Given the description of an element on the screen output the (x, y) to click on. 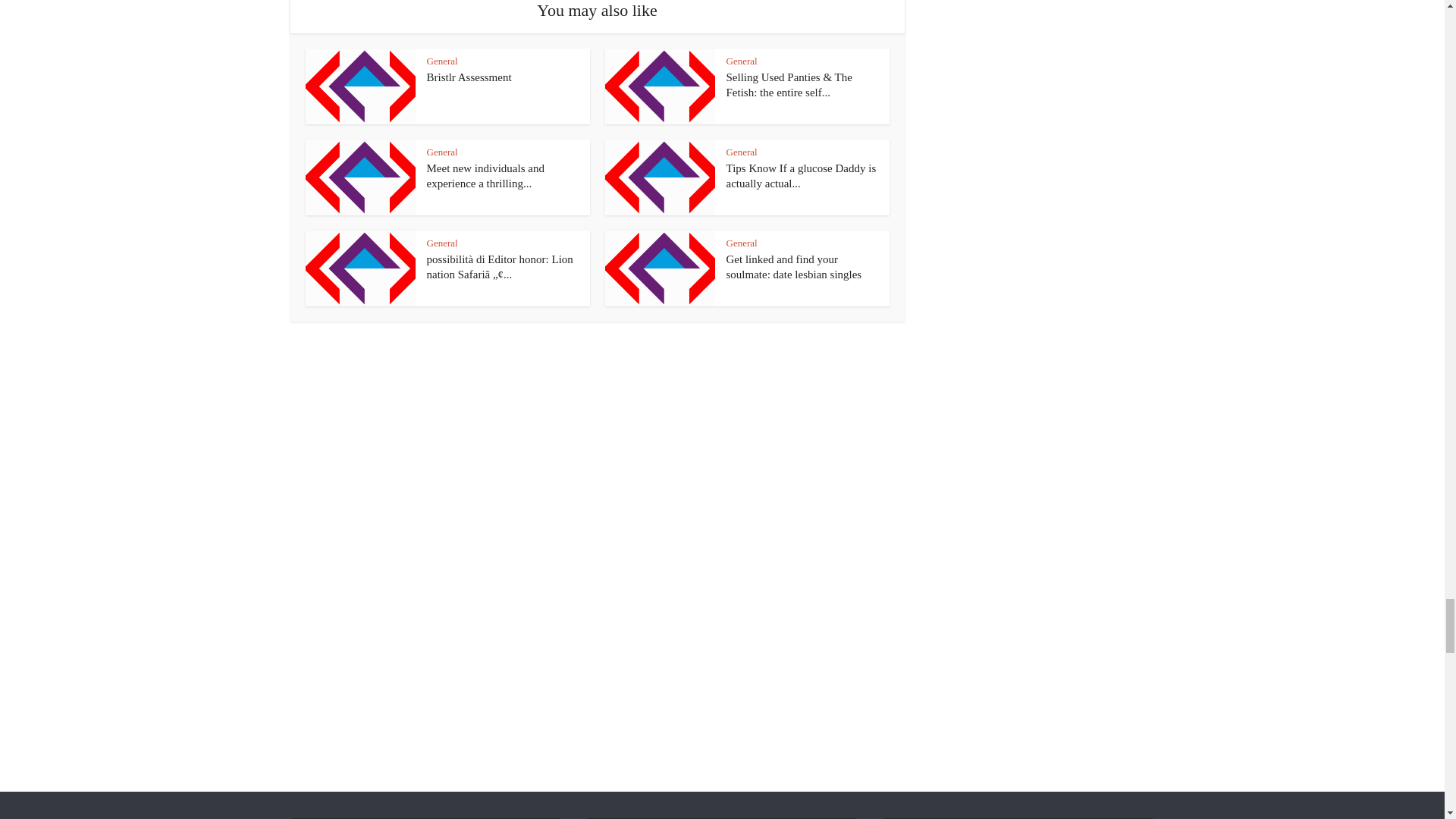
Bristlr  Assessment (468, 77)
Meet new individuals and experience a thrilling adventure (484, 175)
Get linked and find your soulmate: date lesbian singles (793, 266)
